Given the description of an element on the screen output the (x, y) to click on. 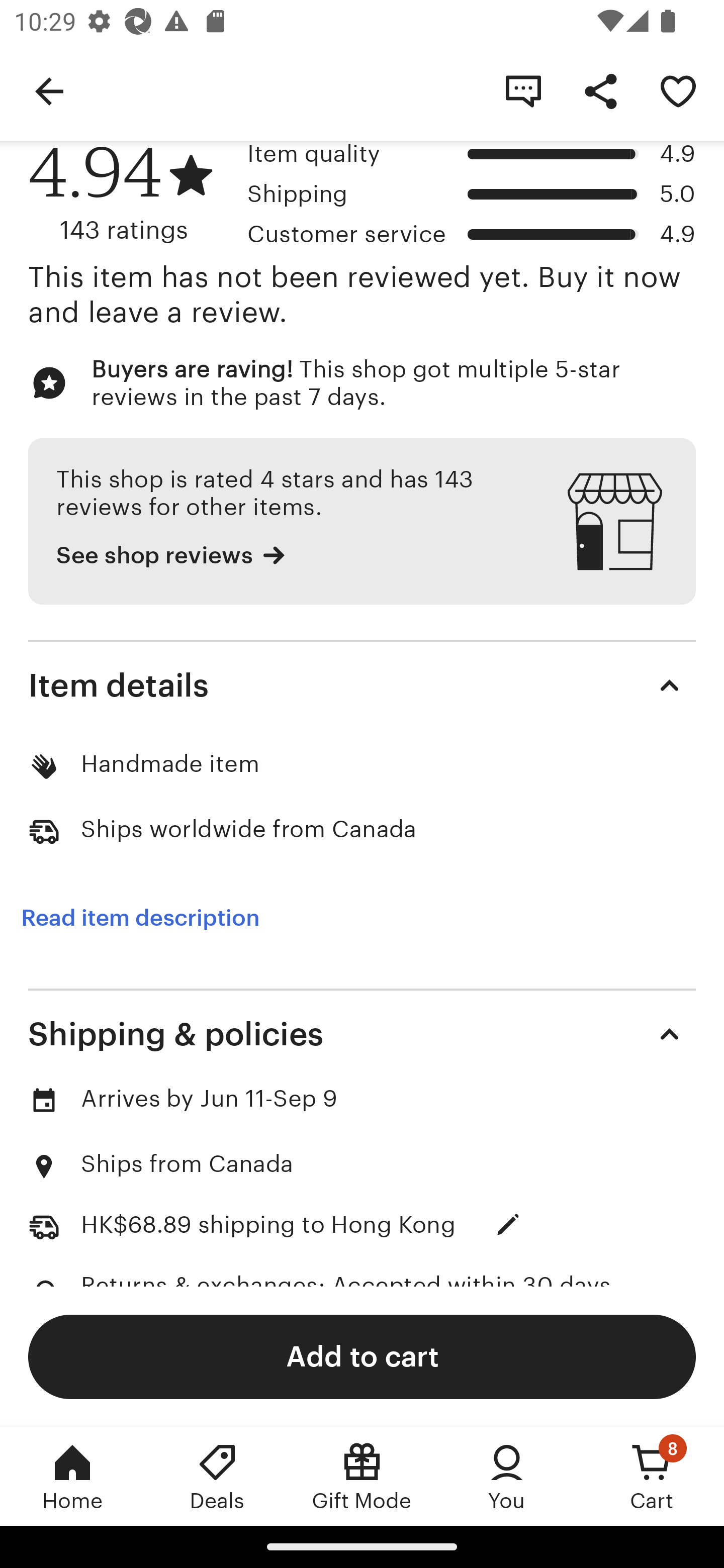
Navigate up (49, 90)
Contact shop (523, 90)
Share (600, 90)
4.94 143 ratings (130, 192)
Item details (362, 684)
Read item description (140, 917)
Shipping & policies (362, 1033)
Update (508, 1224)
Add to cart (361, 1355)
Deals (216, 1475)
Gift Mode (361, 1475)
You (506, 1475)
Cart, 8 new notifications Cart (651, 1475)
